Given the description of an element on the screen output the (x, y) to click on. 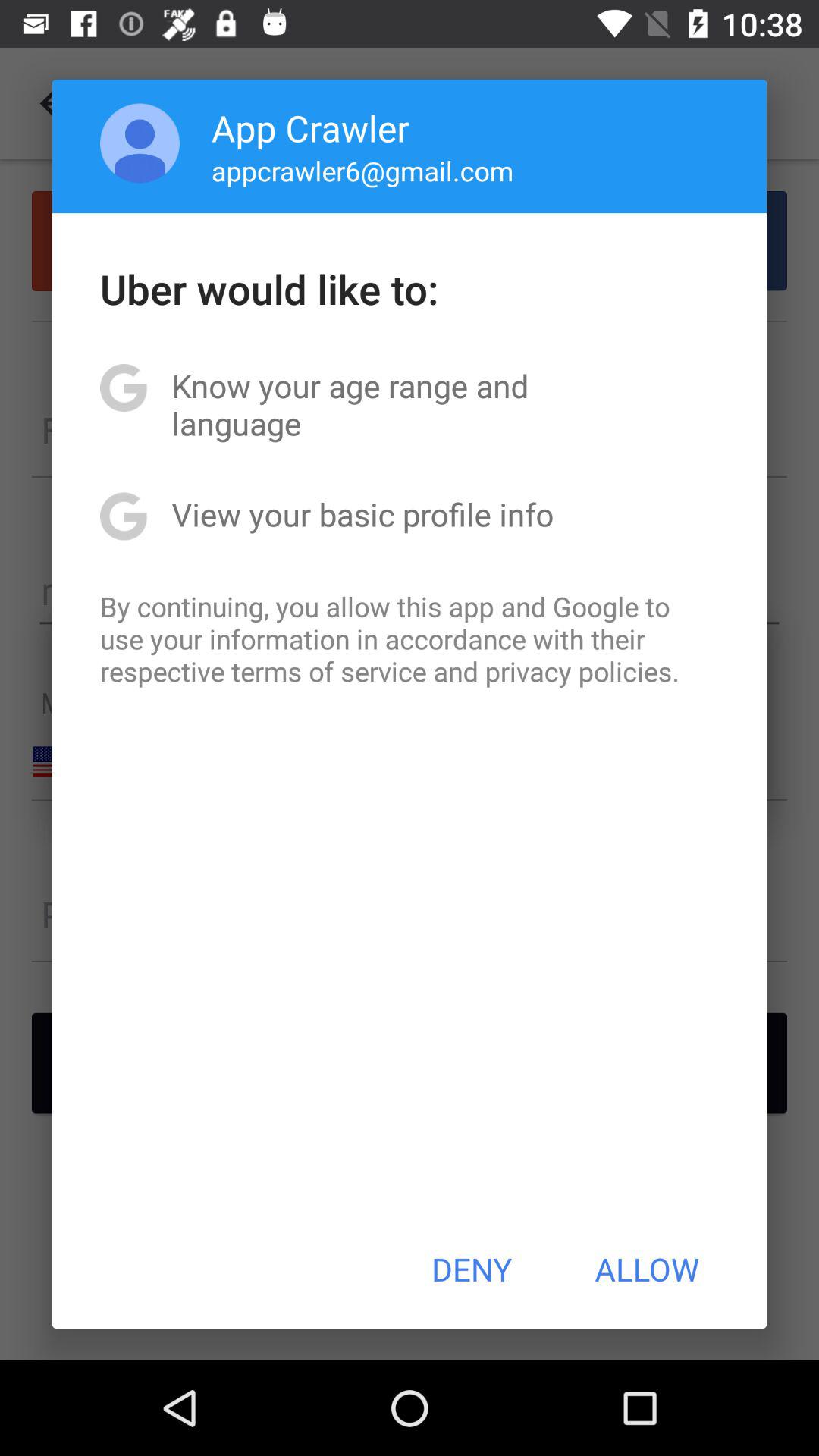
turn on icon below the by continuing you icon (471, 1268)
